Given the description of an element on the screen output the (x, y) to click on. 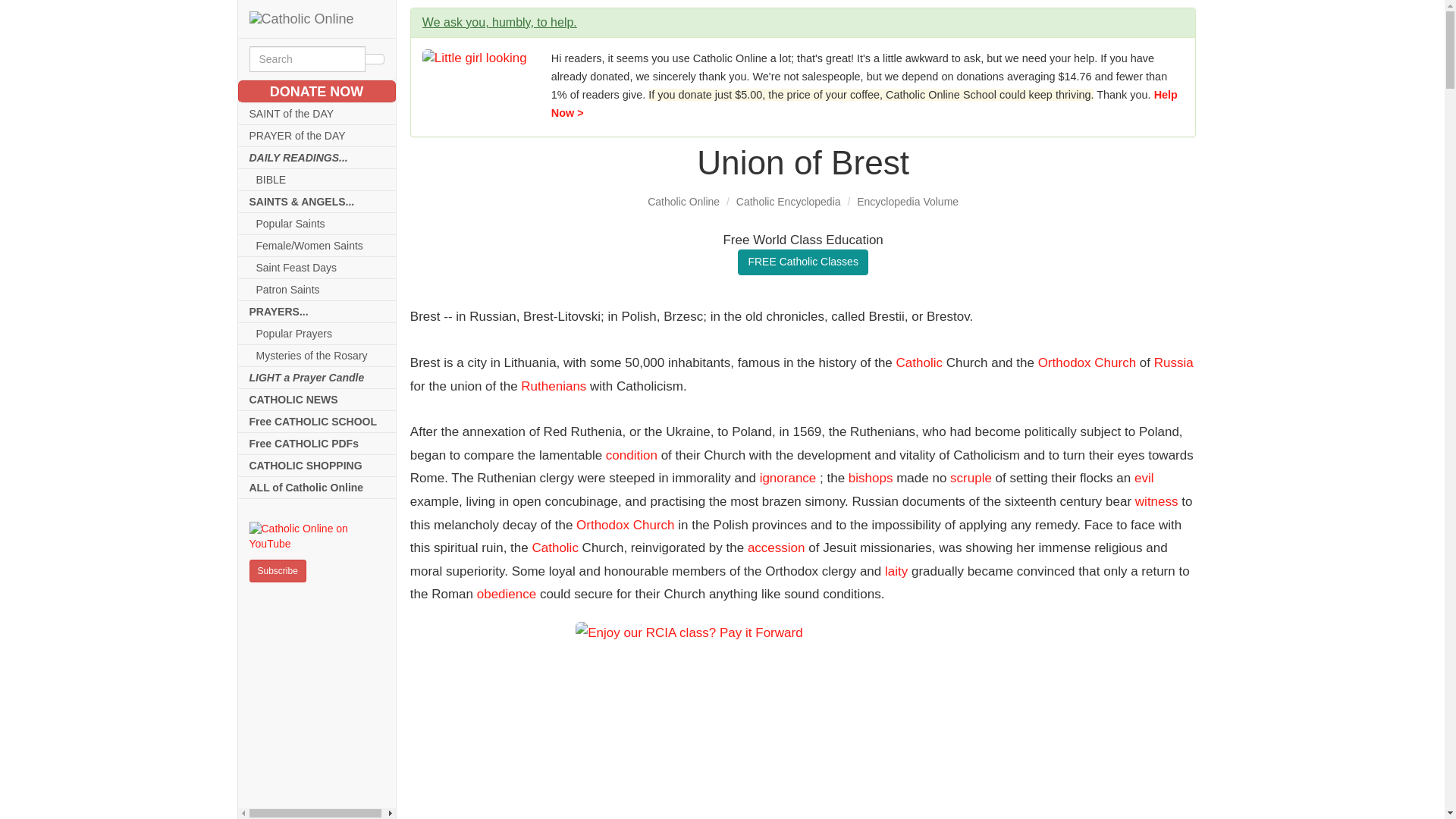
Free CATHOLIC PDFs (317, 444)
Popular Prayers (317, 333)
DONATE NOW (317, 91)
Russia (1173, 362)
PRAYER of the DAY (317, 136)
Orthodox Church (1086, 362)
FREE Catholic Classes (802, 262)
Patron Saints (317, 290)
CATHOLIC NEWS (317, 400)
Saint Feast Days (317, 268)
